Given the description of an element on the screen output the (x, y) to click on. 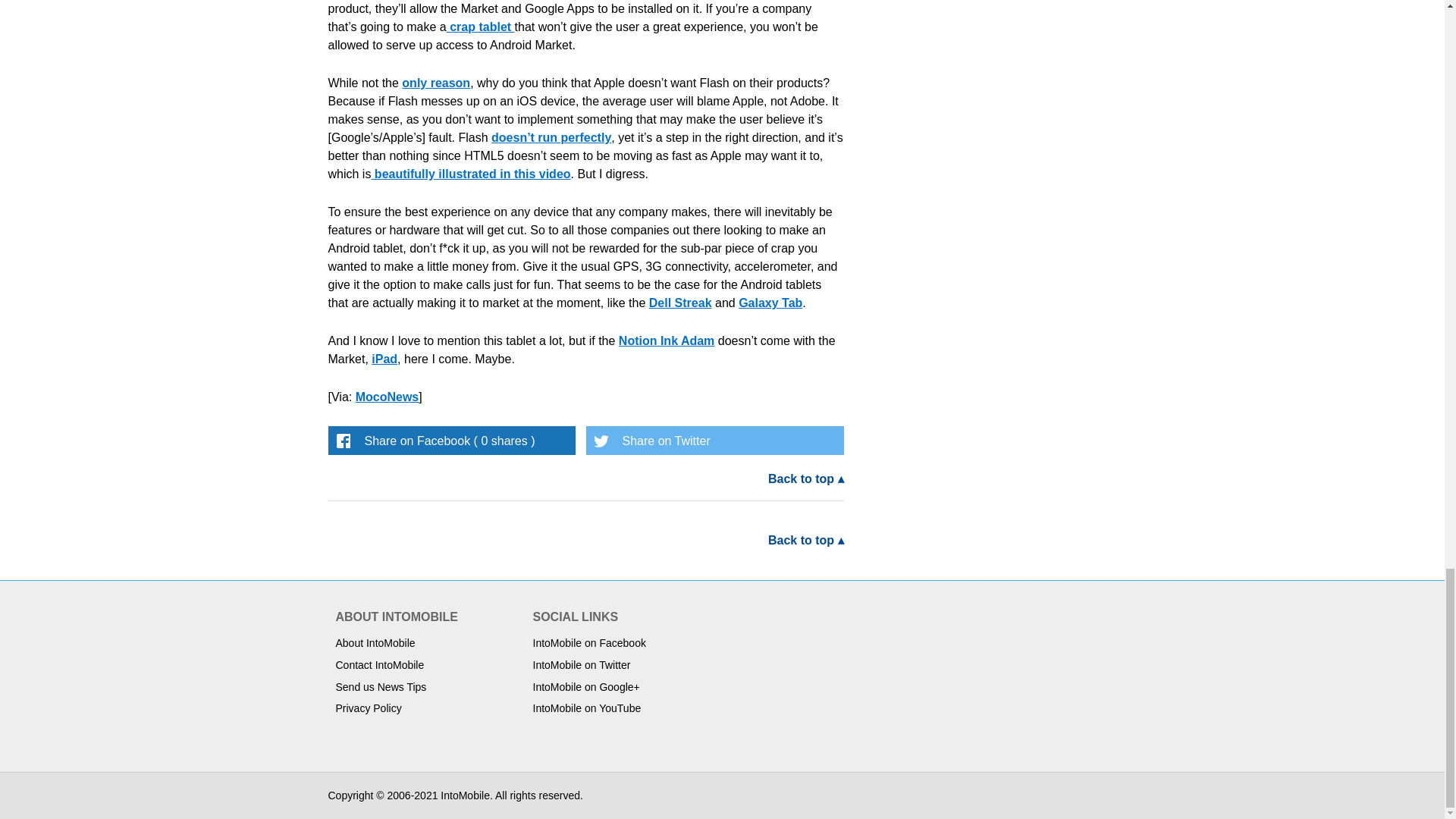
Share on Twitter (714, 440)
